Given the description of an element on the screen output the (x, y) to click on. 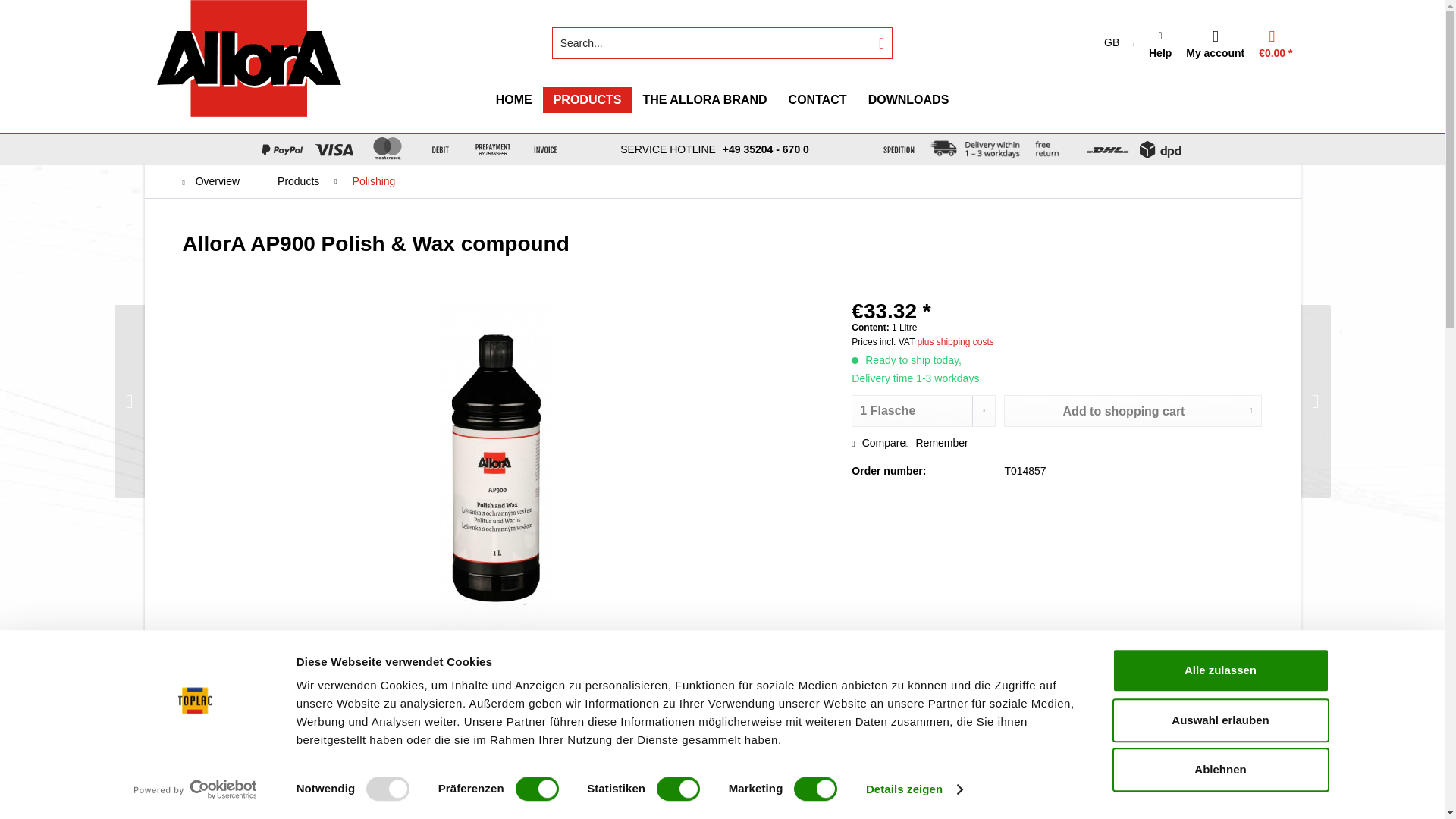
Allora.com - Switch to homepage (249, 58)
Alle zulassen (1219, 670)
PRODUCTS (587, 99)
Ablehnen (1219, 769)
My account (721, 99)
DOWNLOADS (1215, 47)
Details zeigen (908, 99)
CONTACT (914, 789)
HOME (817, 99)
